Given the description of an element on the screen output the (x, y) to click on. 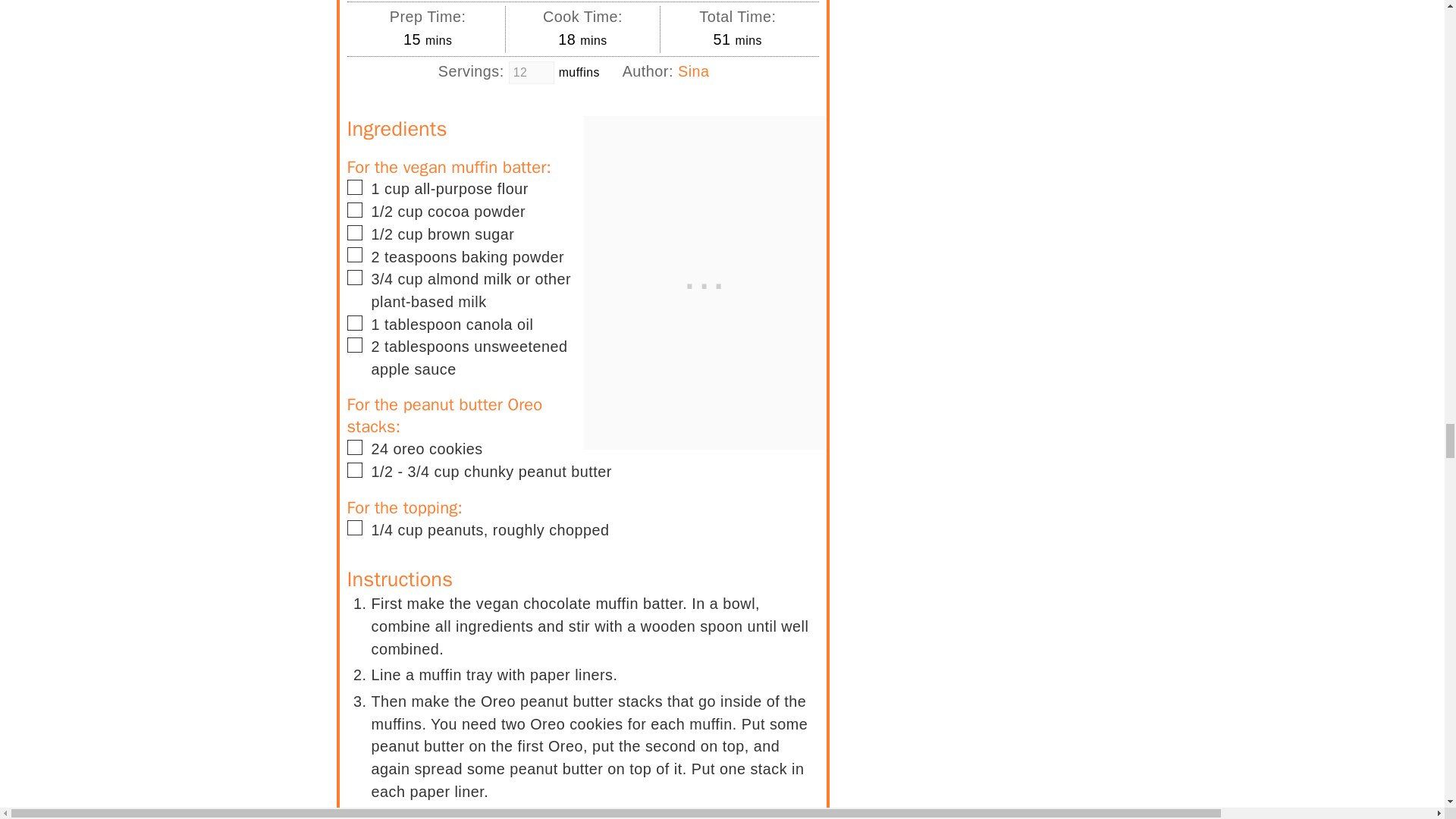
12 (531, 72)
